Given the description of an element on the screen output the (x, y) to click on. 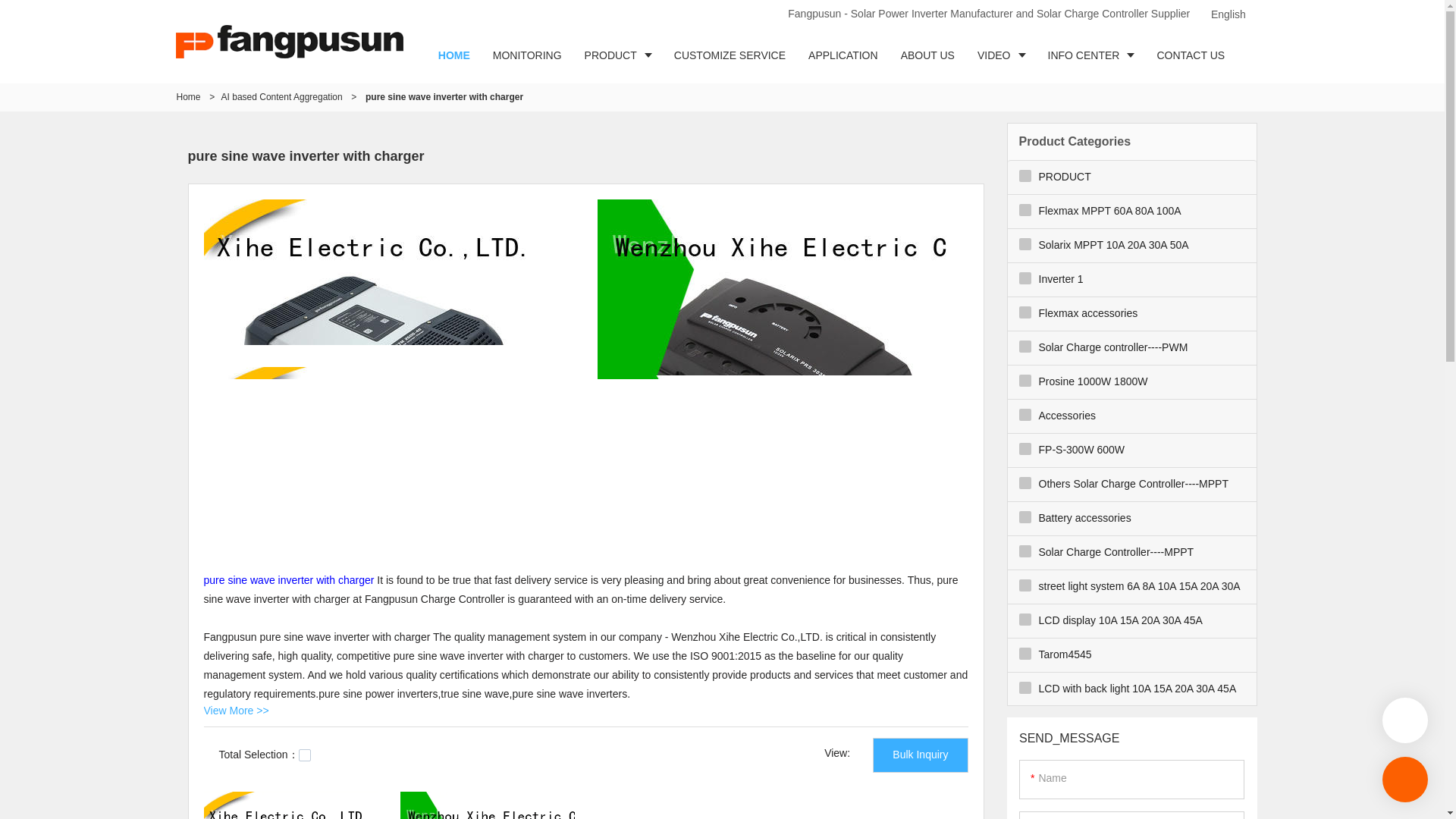
APPLICATION (842, 55)
VIDEO (1001, 55)
CUSTOMIZE SERVICE (729, 55)
ABOUT US (927, 55)
on (304, 755)
HOME (453, 55)
INFO CENTER (1090, 55)
AI based Content Aggregation (281, 96)
Home (188, 96)
MONITORING (527, 55)
